Given the description of an element on the screen output the (x, y) to click on. 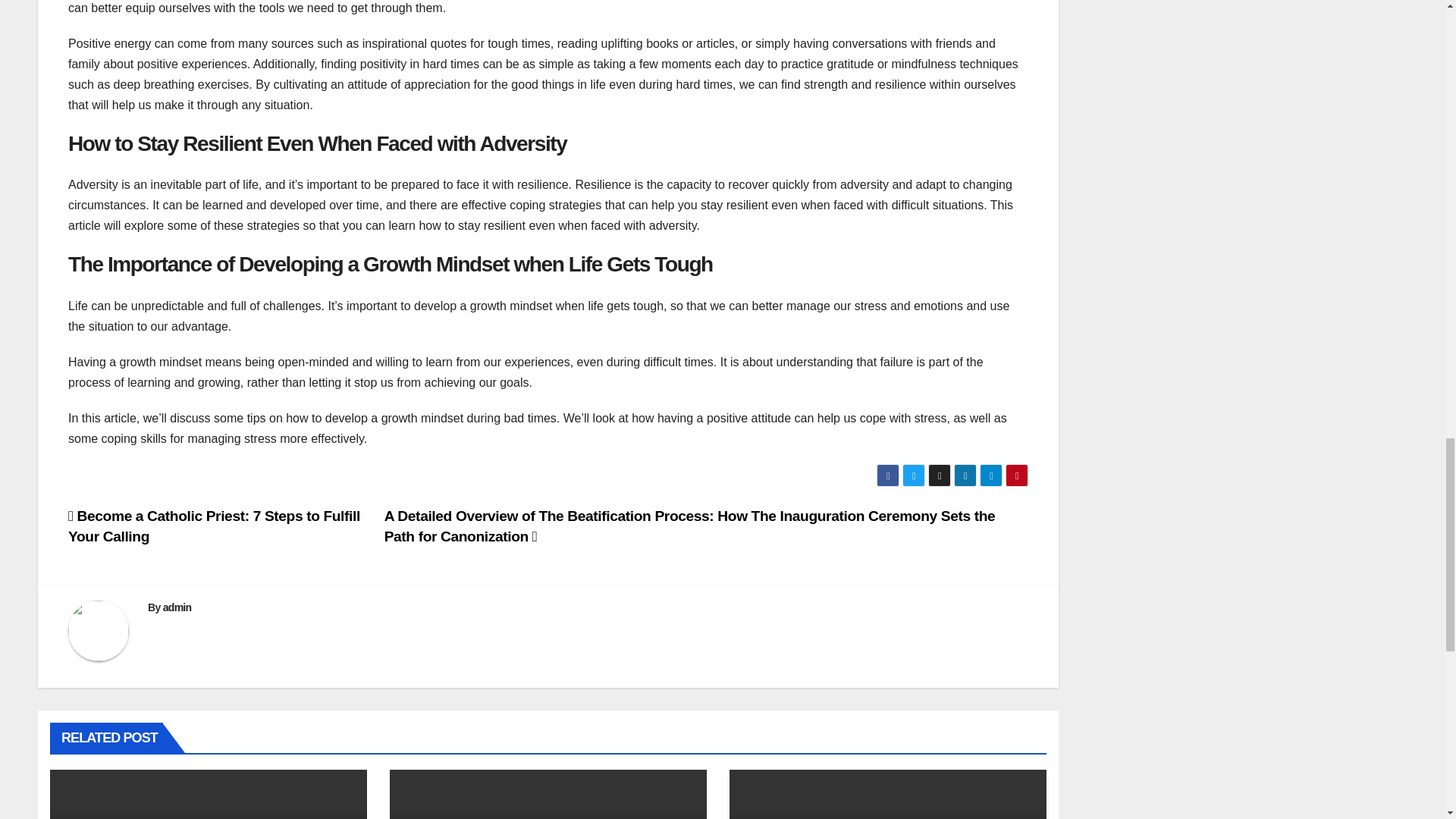
admin (177, 607)
Become a Catholic Priest: 7 Steps to Fulfill Your Calling (213, 525)
